Given the description of an element on the screen output the (x, y) to click on. 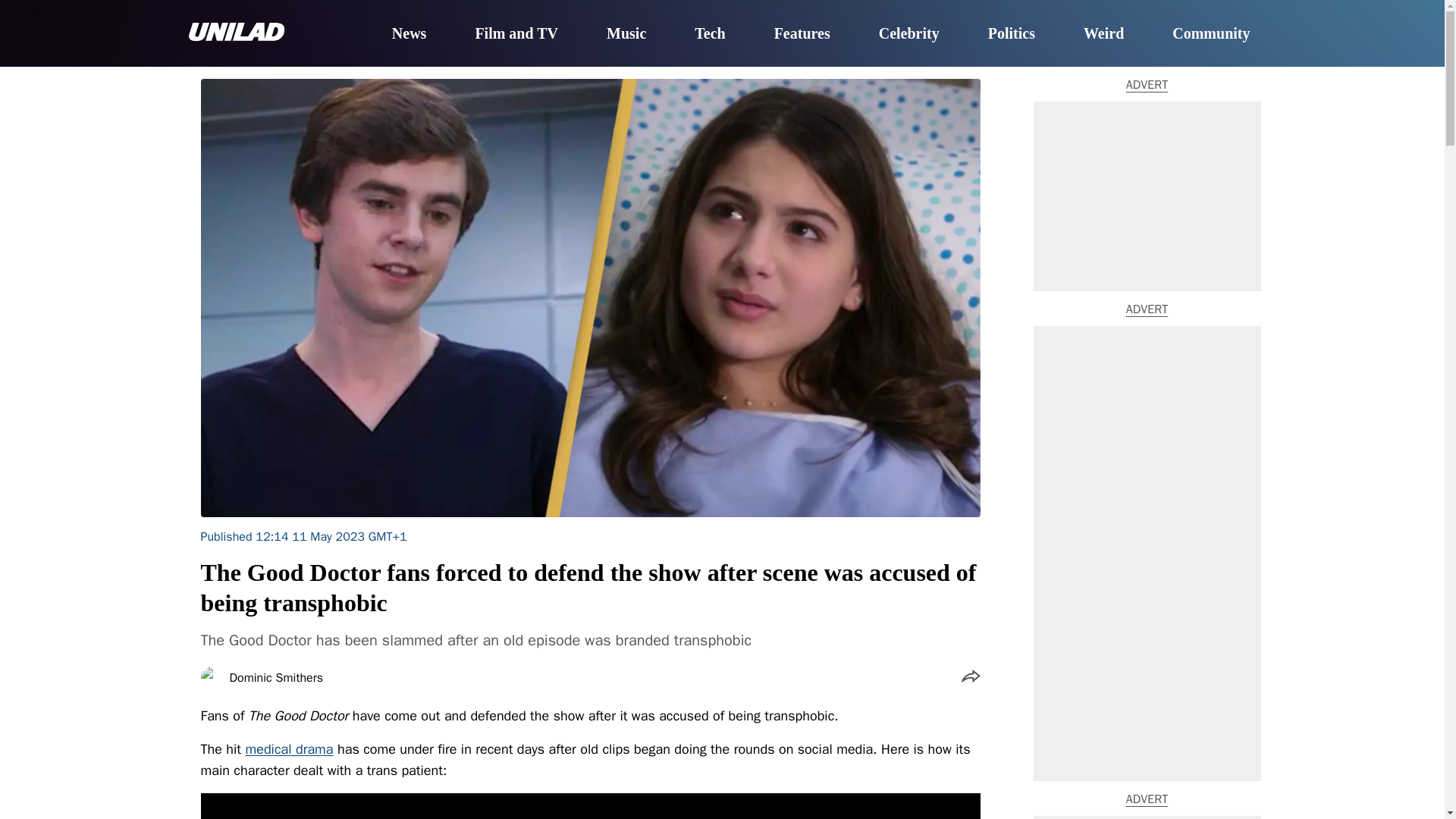
Politics (1011, 34)
Weird (1103, 34)
Tech (709, 34)
Community (1210, 34)
Features (801, 34)
medical drama (288, 749)
Celebrity (909, 34)
News (408, 34)
Music (626, 34)
Film and TV (515, 34)
Dominic Smithers (275, 677)
